Given the description of an element on the screen output the (x, y) to click on. 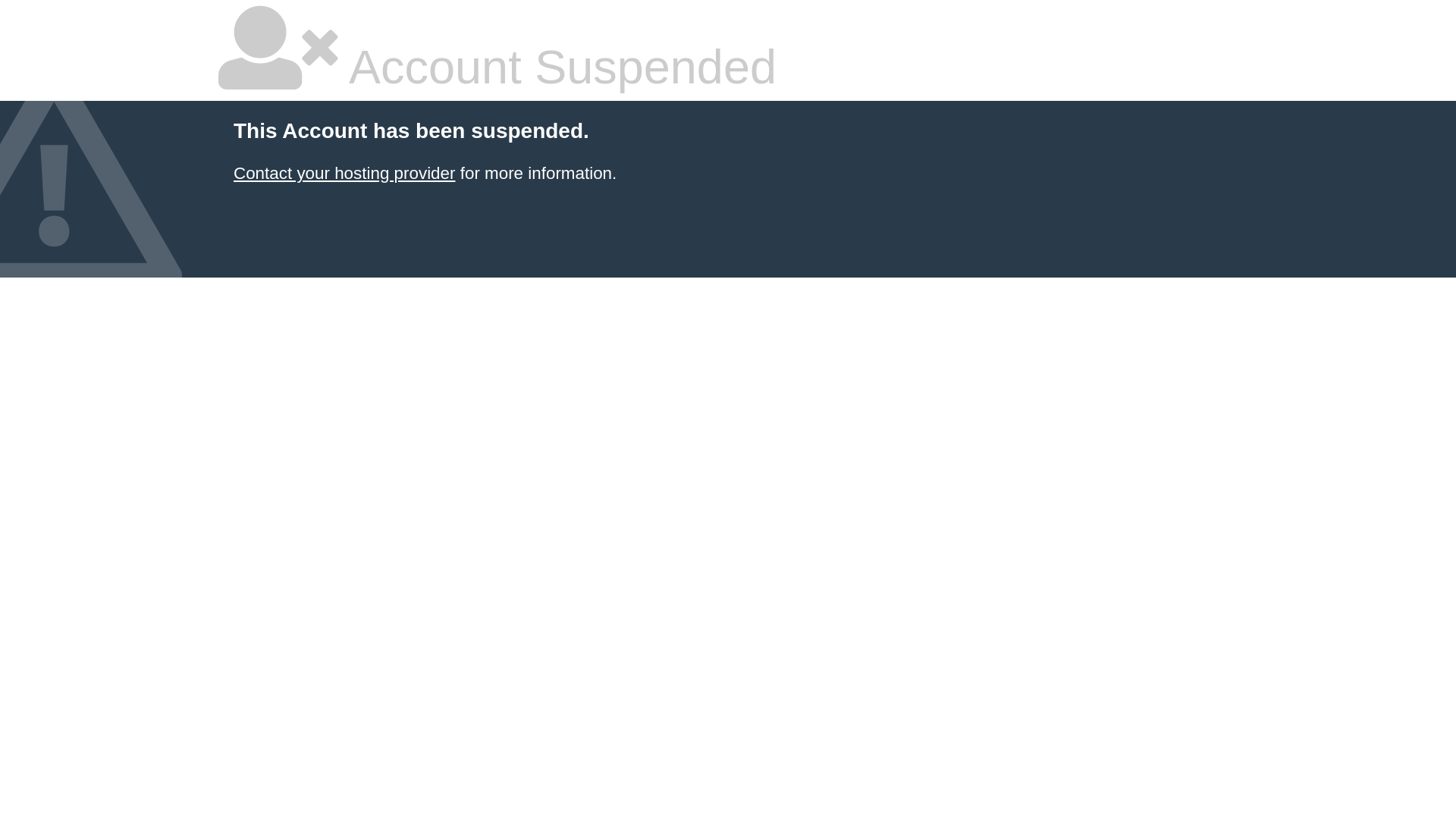
Contact your hosting provider Element type: text (344, 172)
